Given the description of an element on the screen output the (x, y) to click on. 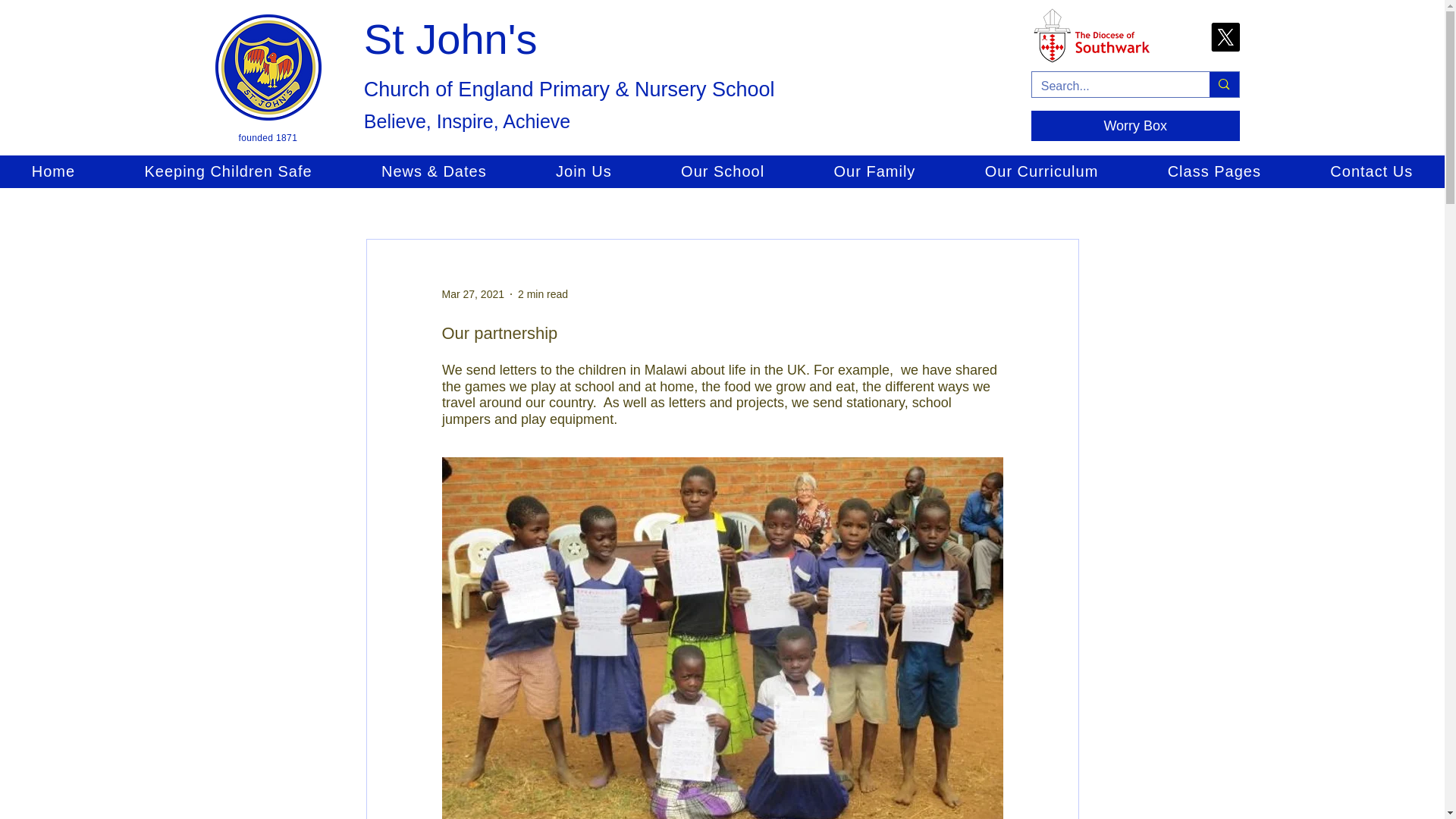
Church of En (423, 88)
Worry Box (1135, 125)
St John's (450, 39)
Mar 27, 2021 (472, 294)
Home (53, 171)
2 min read (542, 294)
